Given the description of an element on the screen output the (x, y) to click on. 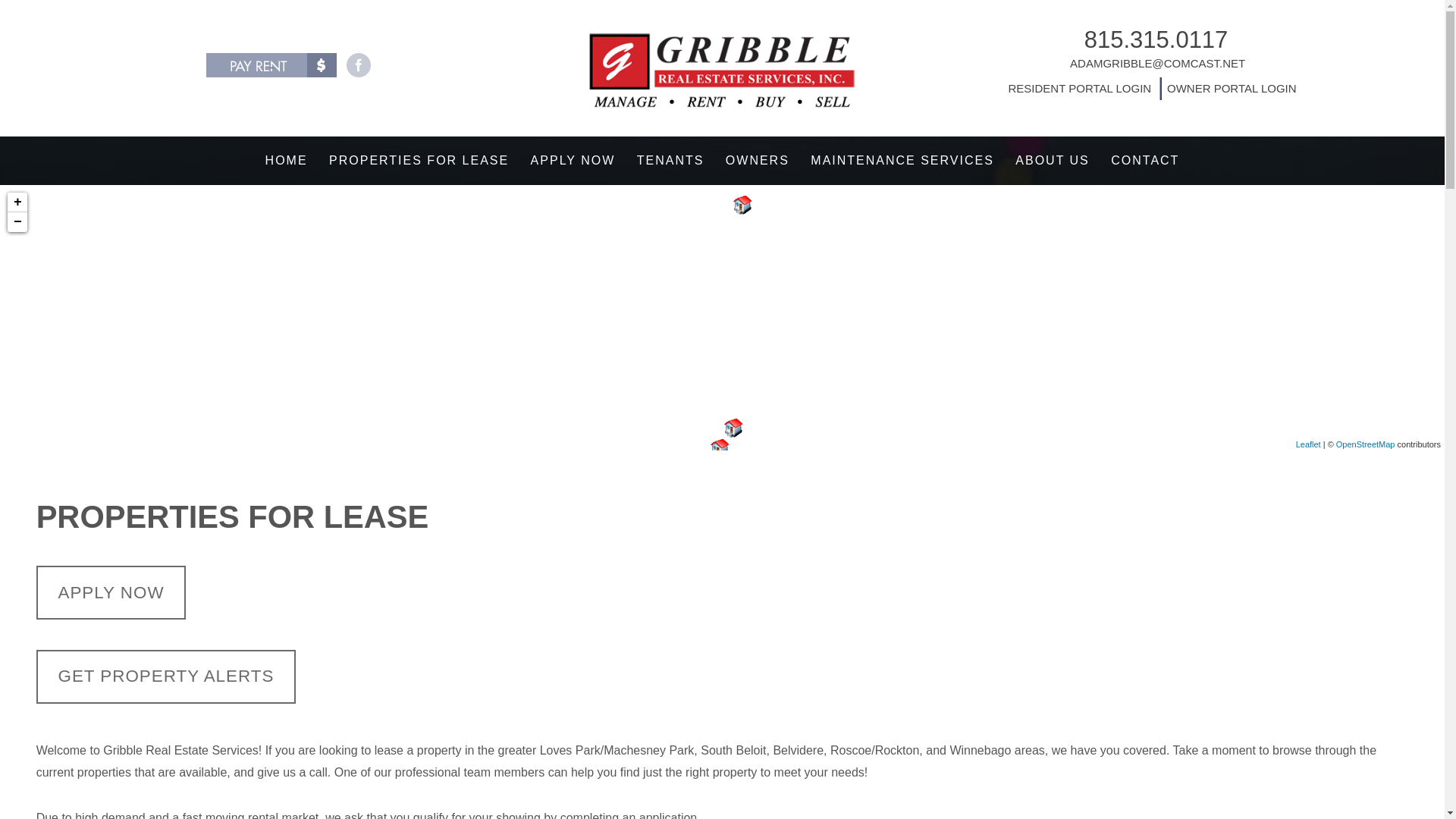
 OWNER PORTAL LOGIN (1230, 88)
GET PROPERTY ALERTS (166, 676)
APPLY NOW (111, 592)
Zoom in (17, 202)
Leaflet (1307, 443)
MAINTENANCE SERVICES (902, 160)
APPLY NOW (573, 160)
PROPERTIES FOR LEASE (418, 160)
TENANTS (670, 160)
Zoom out (17, 221)
OWNERS (757, 160)
815.315.0117 (1156, 38)
CONTACT (1144, 160)
Visit us on Facebook (358, 64)
